Given the description of an element on the screen output the (x, y) to click on. 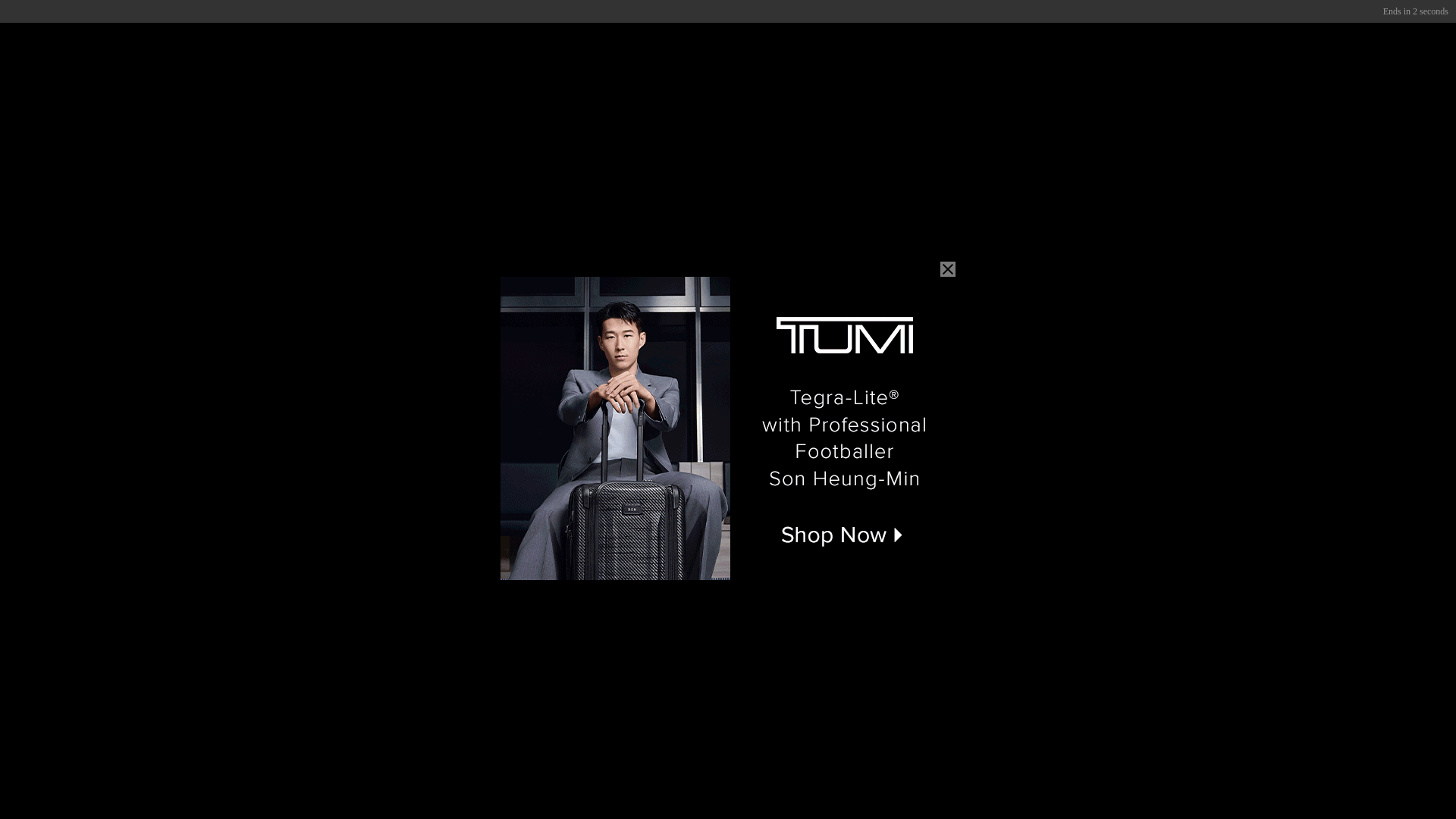
LIFESTYLE (607, 18)
Omega (1202, 552)
JOURNAL (764, 18)
STYLE (461, 18)
NEWSLETTER (1130, 18)
SUBSCRIBE (1034, 18)
WATCHES (528, 18)
FEATURES (687, 18)
